Given the description of an element on the screen output the (x, y) to click on. 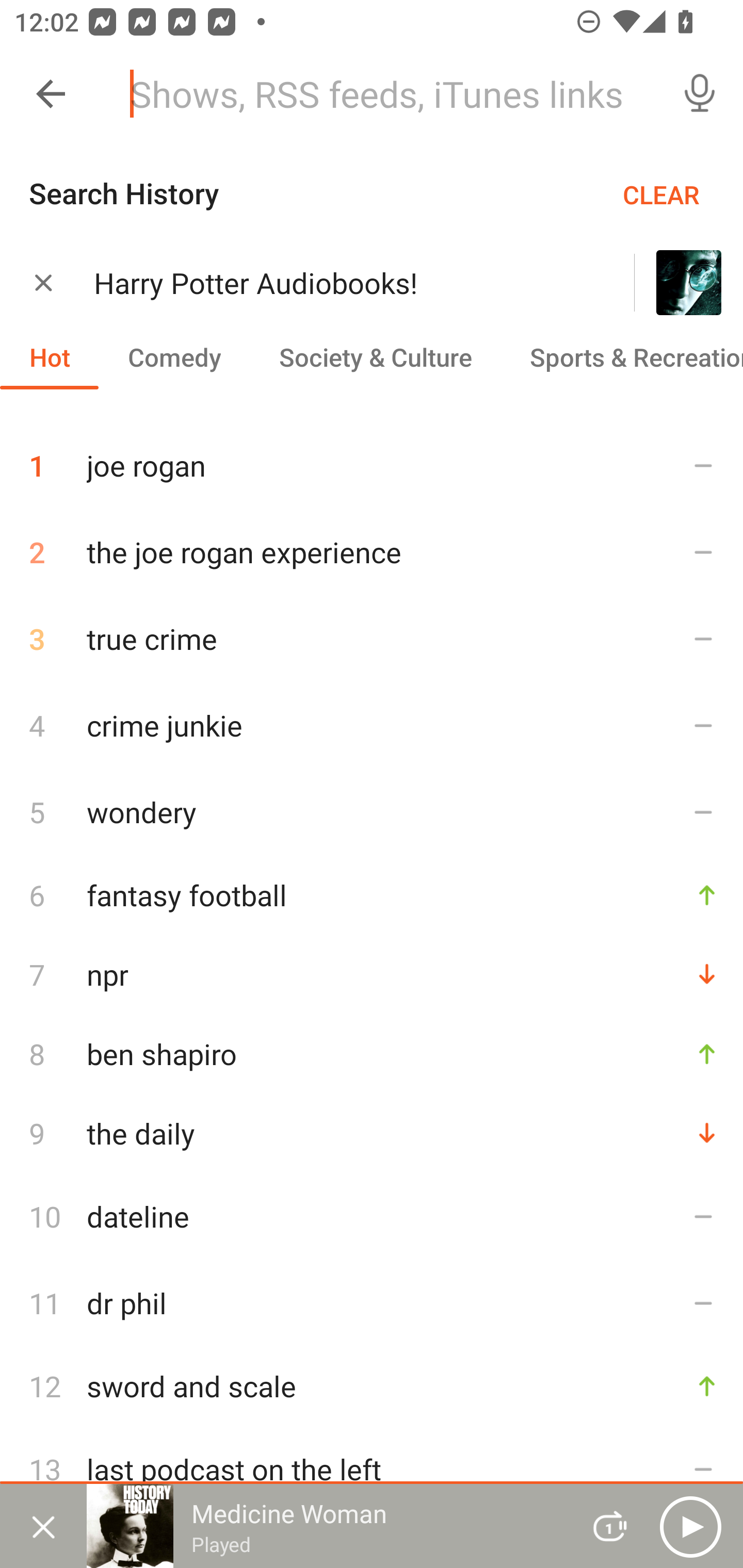
Collapse (50, 93)
Voice Search (699, 93)
Shows, RSS feeds, iTunes links (385, 94)
CLEAR (660, 194)
Harry Potter Audiobooks! (338, 282)
 Clear (43, 282)
Hot (49, 356)
Comedy (173, 356)
Society & Culture (374, 356)
Sports & Recreation (621, 356)
1 joe rogan (371, 457)
2 the joe rogan experience (371, 551)
3 true crime (371, 638)
4 crime junkie (371, 725)
5 wondery (371, 811)
6 fantasy football (371, 894)
7 npr (371, 974)
8 ben shapiro (371, 1053)
9 the daily (371, 1132)
10 dateline (371, 1215)
11 dr phil (371, 1302)
12 sword and scale (371, 1385)
13 last podcast on the left (371, 1468)
Medicine Woman Played (326, 1525)
Play (690, 1526)
